Given the description of an element on the screen output the (x, y) to click on. 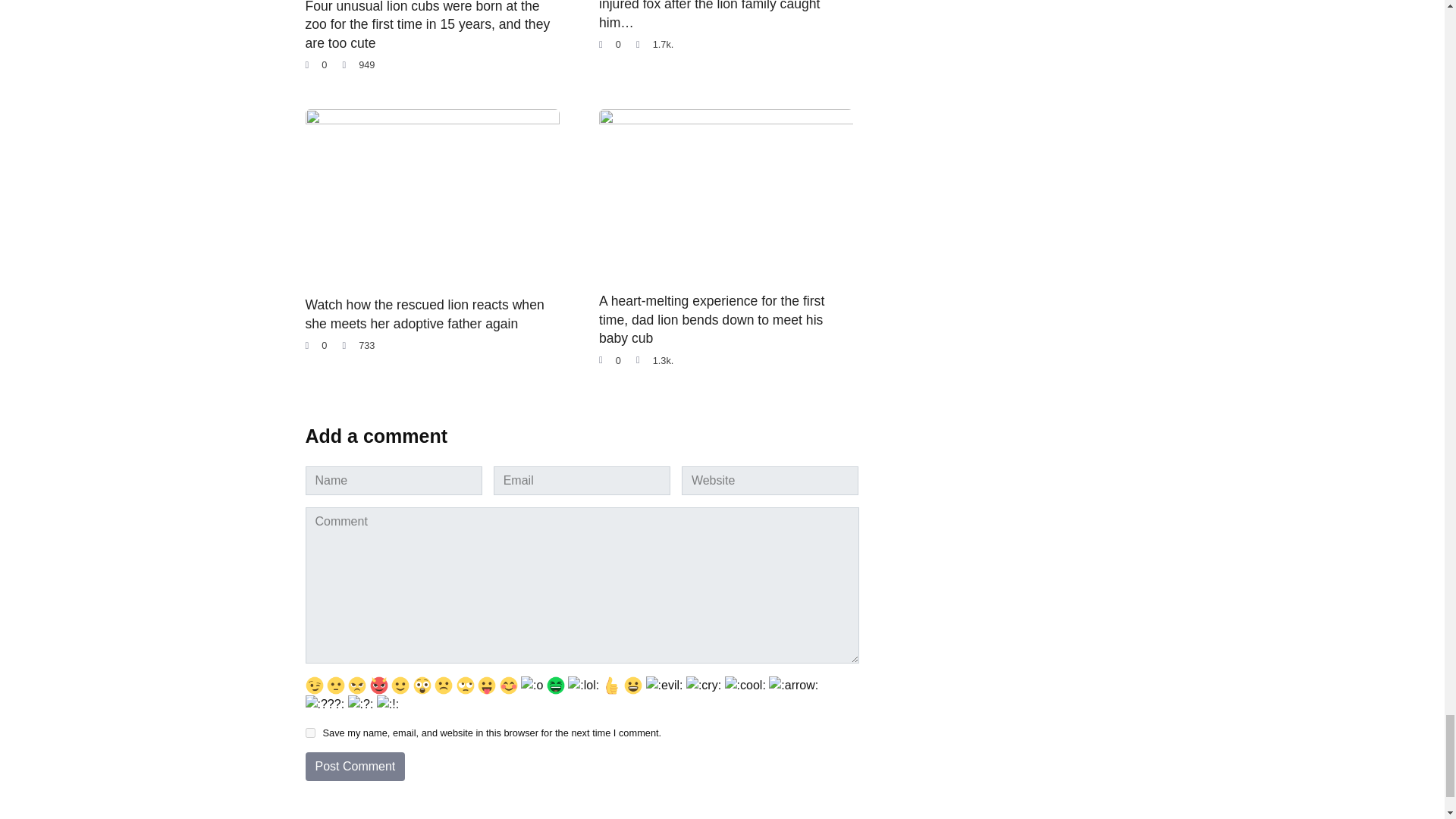
Post Comment (354, 766)
Post Comment (354, 766)
yes (309, 732)
